Given the description of an element on the screen output the (x, y) to click on. 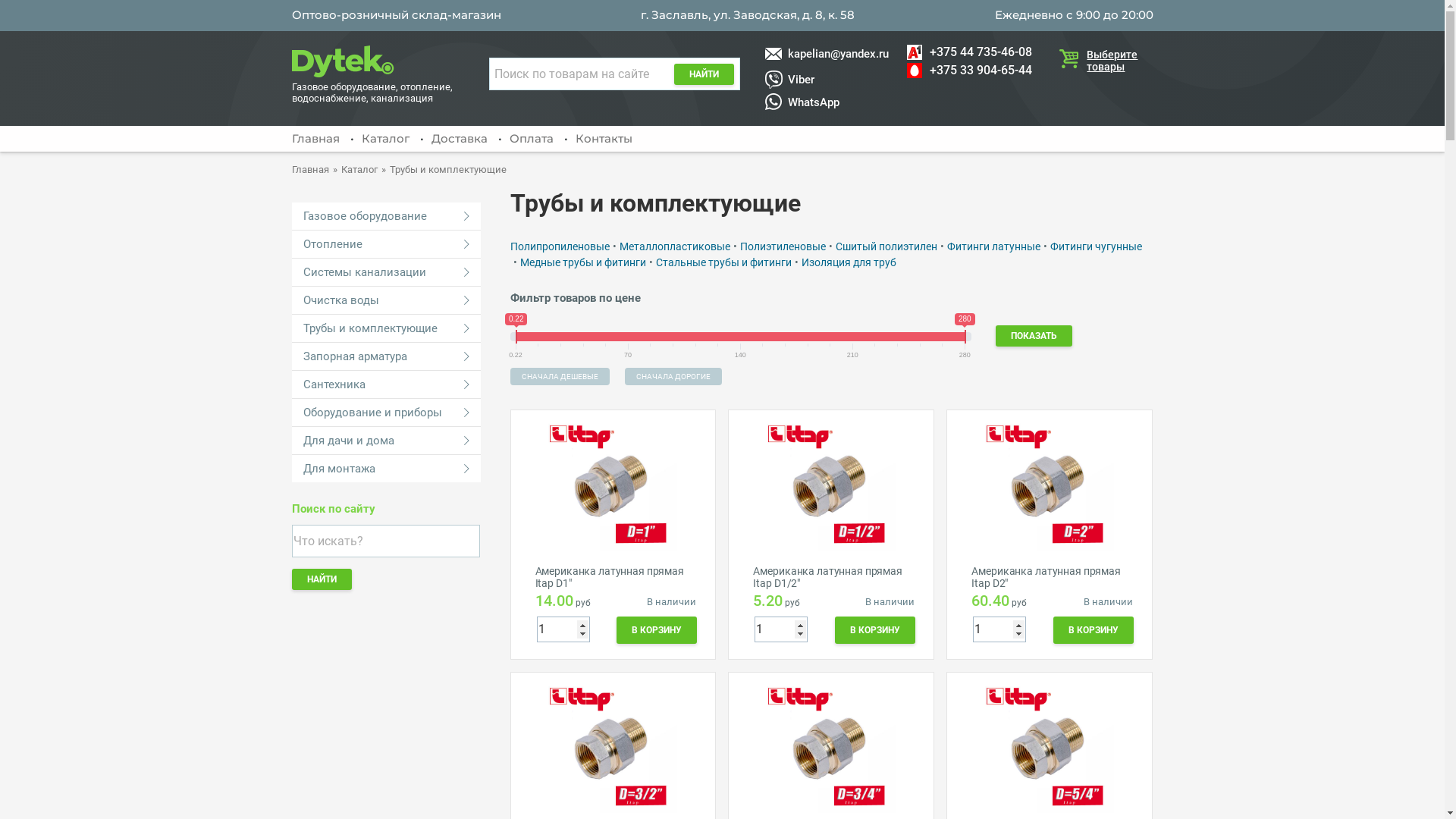
kapelian@yandex.ru Element type: text (826, 53)
1 Element type: text (999, 628)
Viber Element type: text (826, 79)
+375 33 904-65-44 Element type: text (969, 70)
1 Element type: text (562, 628)
WhatsApp Element type: text (826, 102)
+375 44 735-46-08 Element type: text (969, 51)
1 Element type: text (780, 628)
